Given the description of an element on the screen output the (x, y) to click on. 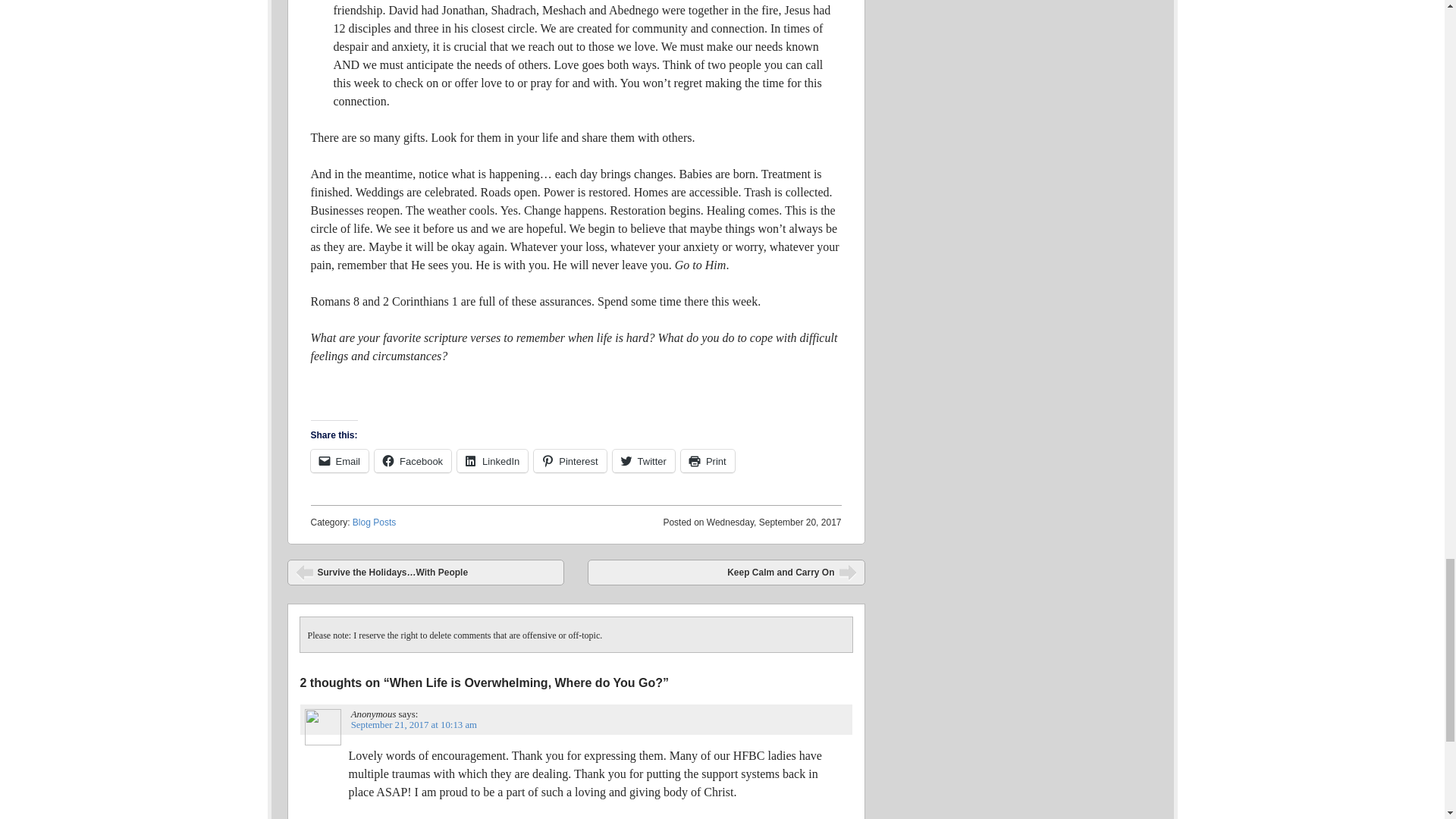
Click to share on Pinterest (569, 460)
September 21, 2017 at 10:13 am (413, 724)
Click to share on LinkedIn (492, 460)
Click to share on Facebook (412, 460)
Click to share on Twitter (643, 460)
Click to print (708, 460)
Facebook (412, 460)
LinkedIn (492, 460)
Print (708, 460)
Pinterest (569, 460)
Email (340, 460)
Click to email a link to a friend (340, 460)
Blog Posts (374, 521)
Twitter (643, 460)
Keep Calm and Carry On (726, 572)
